Given the description of an element on the screen output the (x, y) to click on. 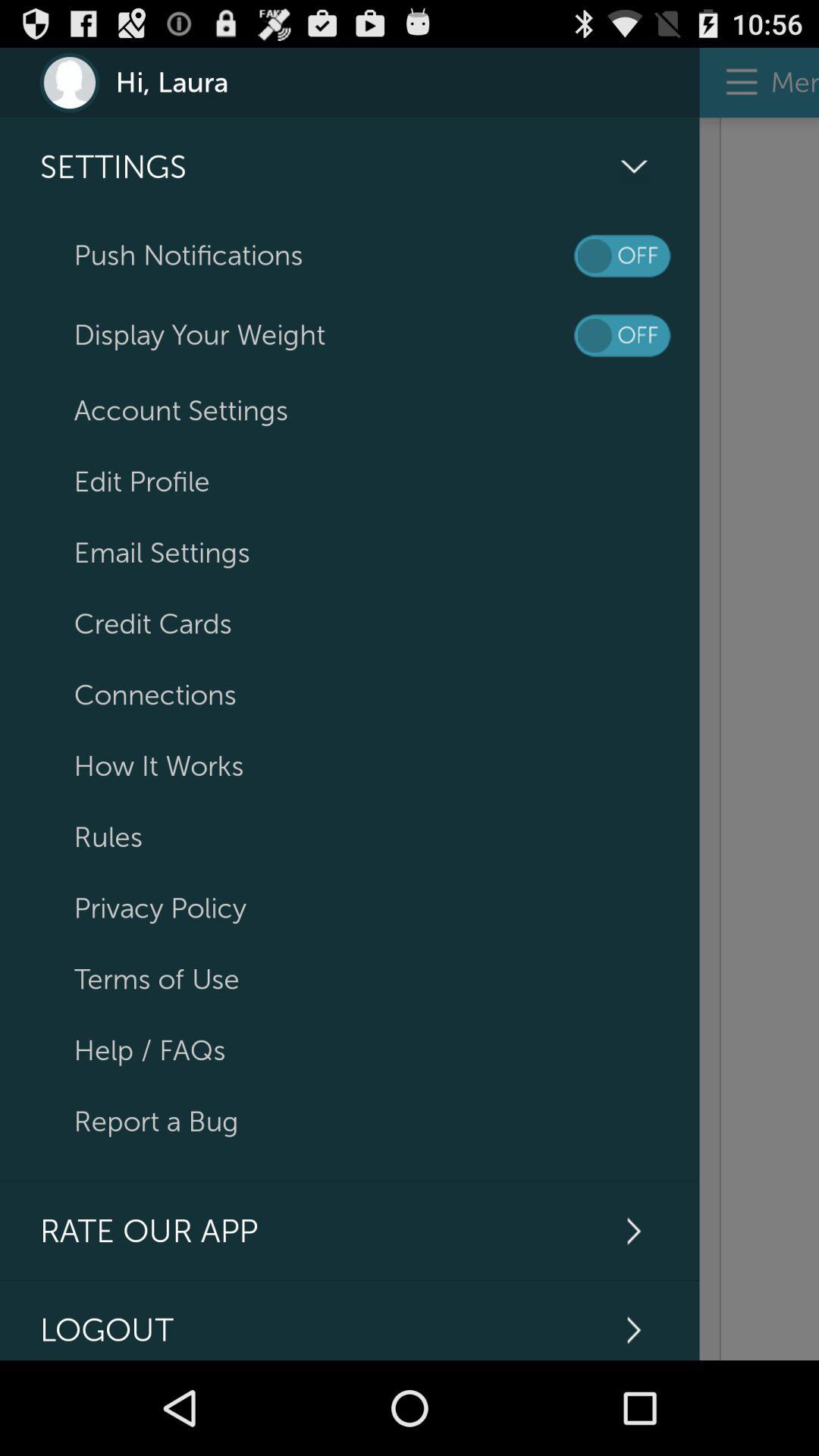
choose from menu items (759, 738)
